Given the description of an element on the screen output the (x, y) to click on. 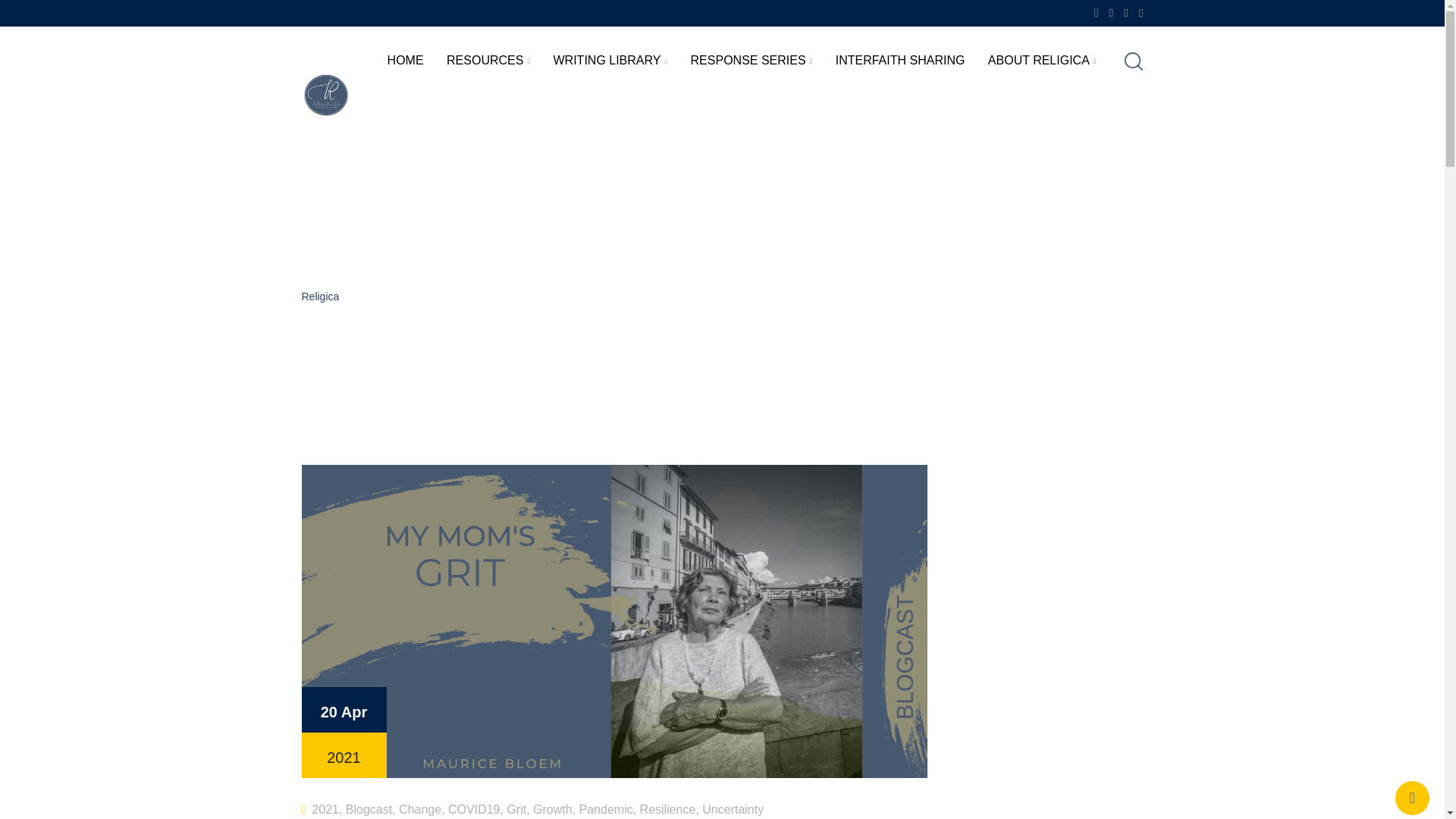
Go to Religica. (320, 296)
ABOUT RELIGICA (1042, 60)
INTERFAITH SHARING (900, 59)
WRITING LIBRARY (610, 60)
RESOURCES (488, 60)
RESPONSE SERIES (751, 60)
